Given the description of an element on the screen output the (x, y) to click on. 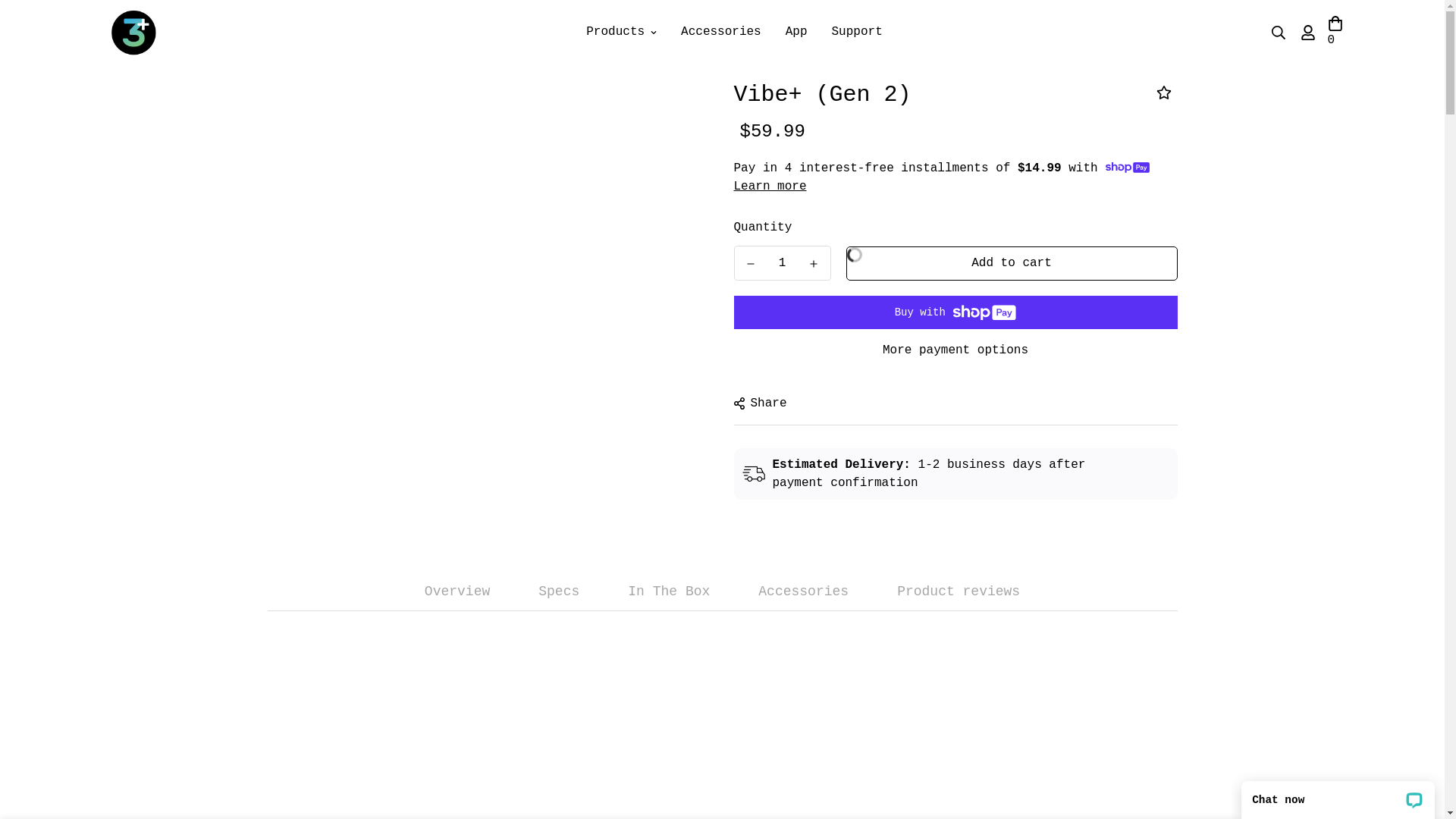
Home Element type: text (605, 21)
Smart Watches Element type: text (677, 21)
Share Element type: text (760, 403)
Support Element type: text (856, 32)
Accessories Element type: text (720, 32)
0 Element type: text (1335, 31)
Products Element type: text (621, 32)
Add to cart Element type: text (1011, 263)
More payment options Element type: text (955, 350)
App Element type: text (796, 32)
